Given the description of an element on the screen output the (x, y) to click on. 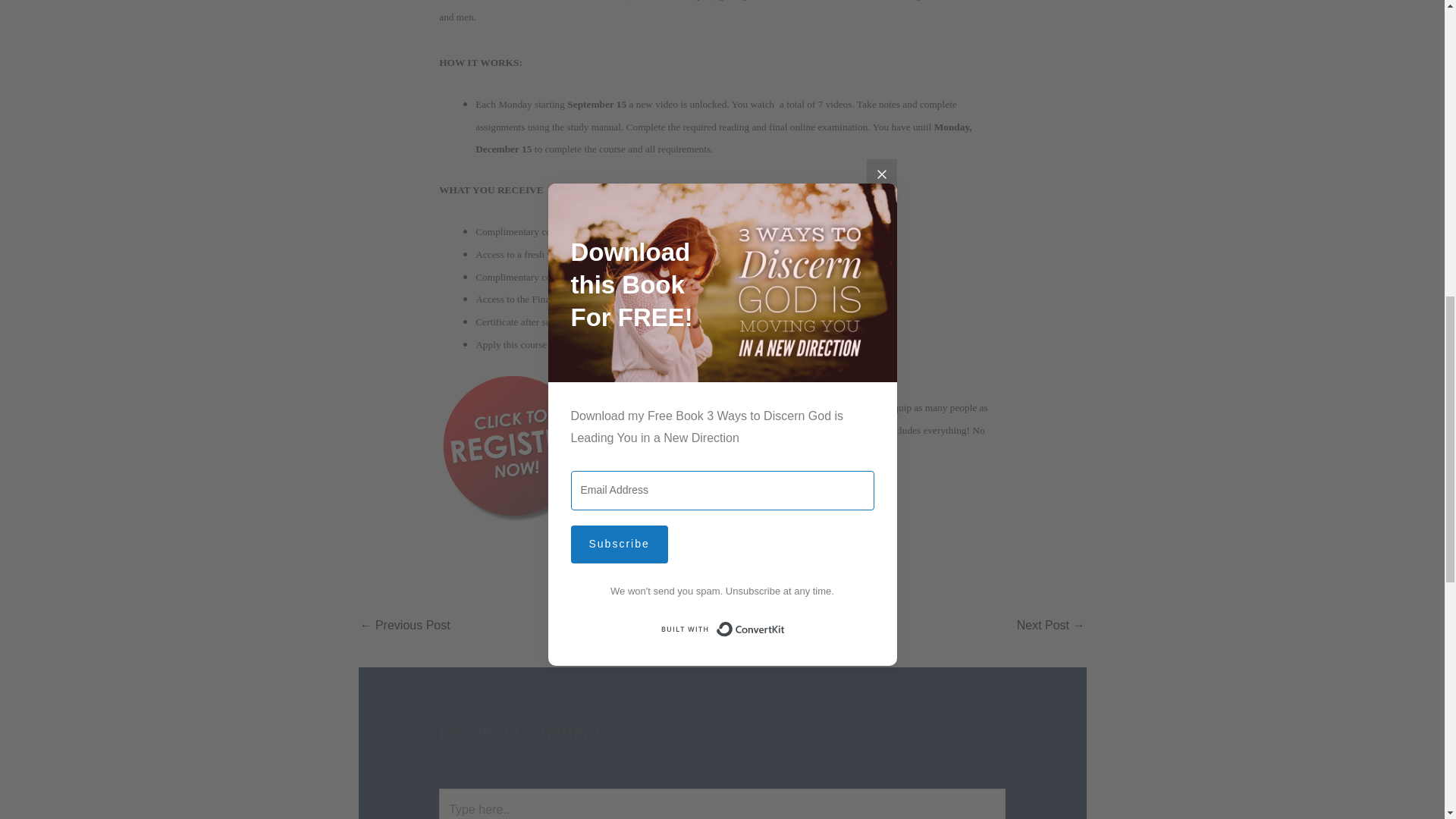
SHIFTING TO APOSTOLIC MINISTRY COURSE (1050, 626)
Register Now and make your payment! (717, 473)
Year of the Open Door (404, 626)
